Given the description of an element on the screen output the (x, y) to click on. 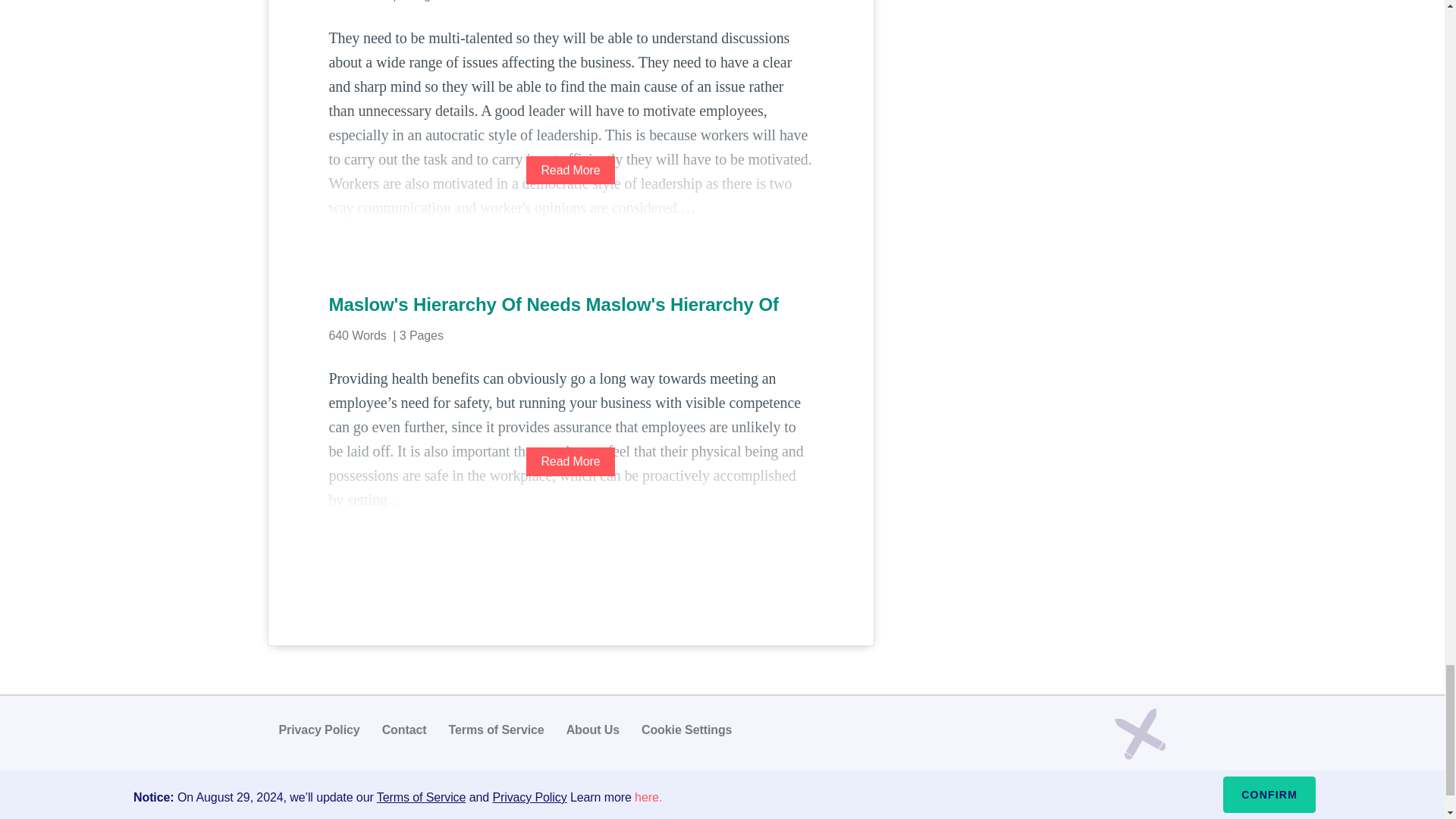
Maslow's Hierarchy Of Needs Maslow's Hierarchy Of (570, 304)
Contact (403, 729)
Read More (569, 170)
Read More (569, 461)
Terms of Service (495, 729)
Privacy Policy (319, 729)
